Given the description of an element on the screen output the (x, y) to click on. 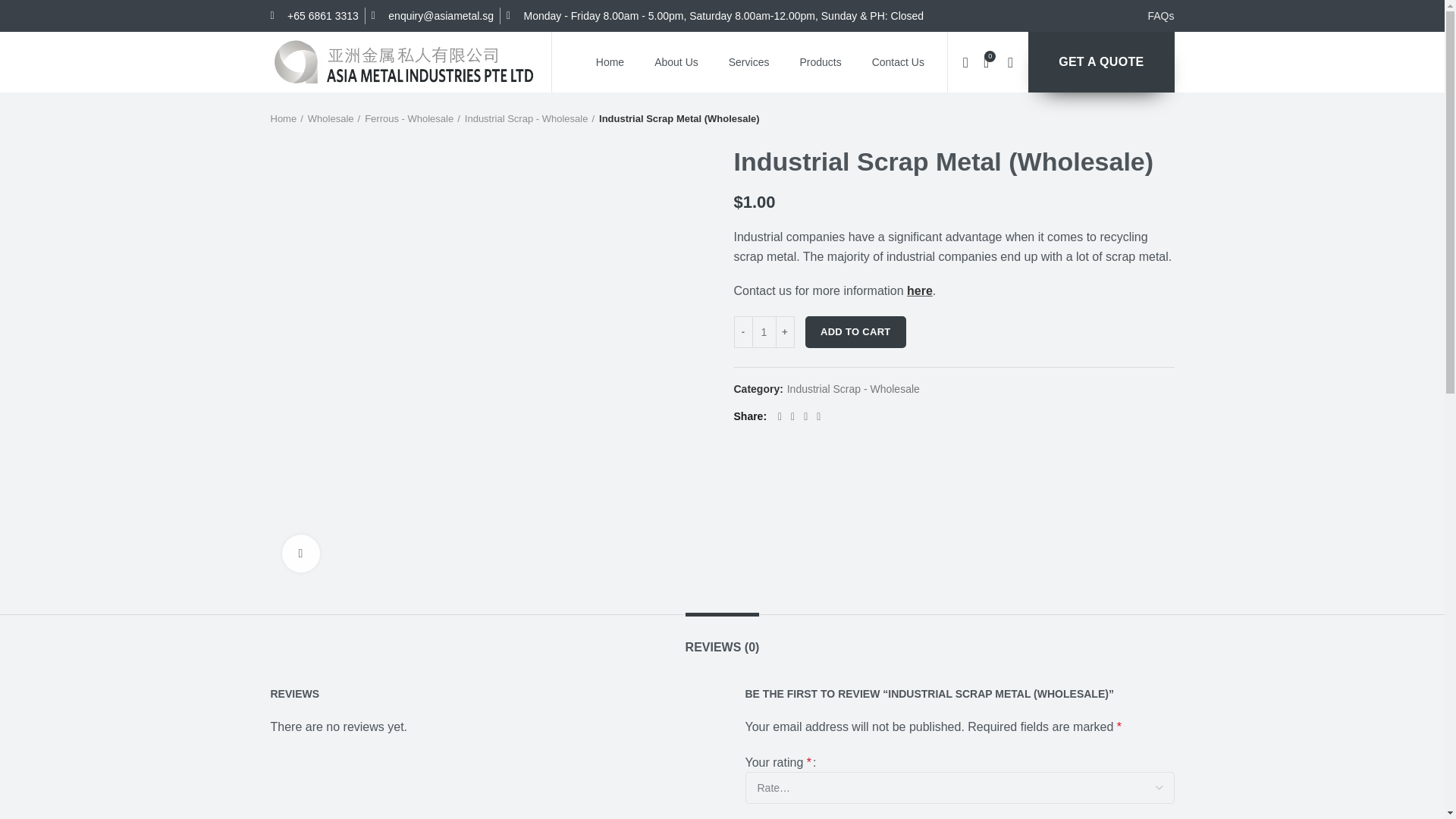
Log in (887, 308)
Services (748, 61)
Home (609, 61)
here (920, 290)
Industrial Scrap - Wholesale (529, 119)
FAQs (1160, 15)
Wholesale (333, 119)
GET A QUOTE (1100, 61)
Contact Us (898, 61)
Products (820, 61)
